Given the description of an element on the screen output the (x, y) to click on. 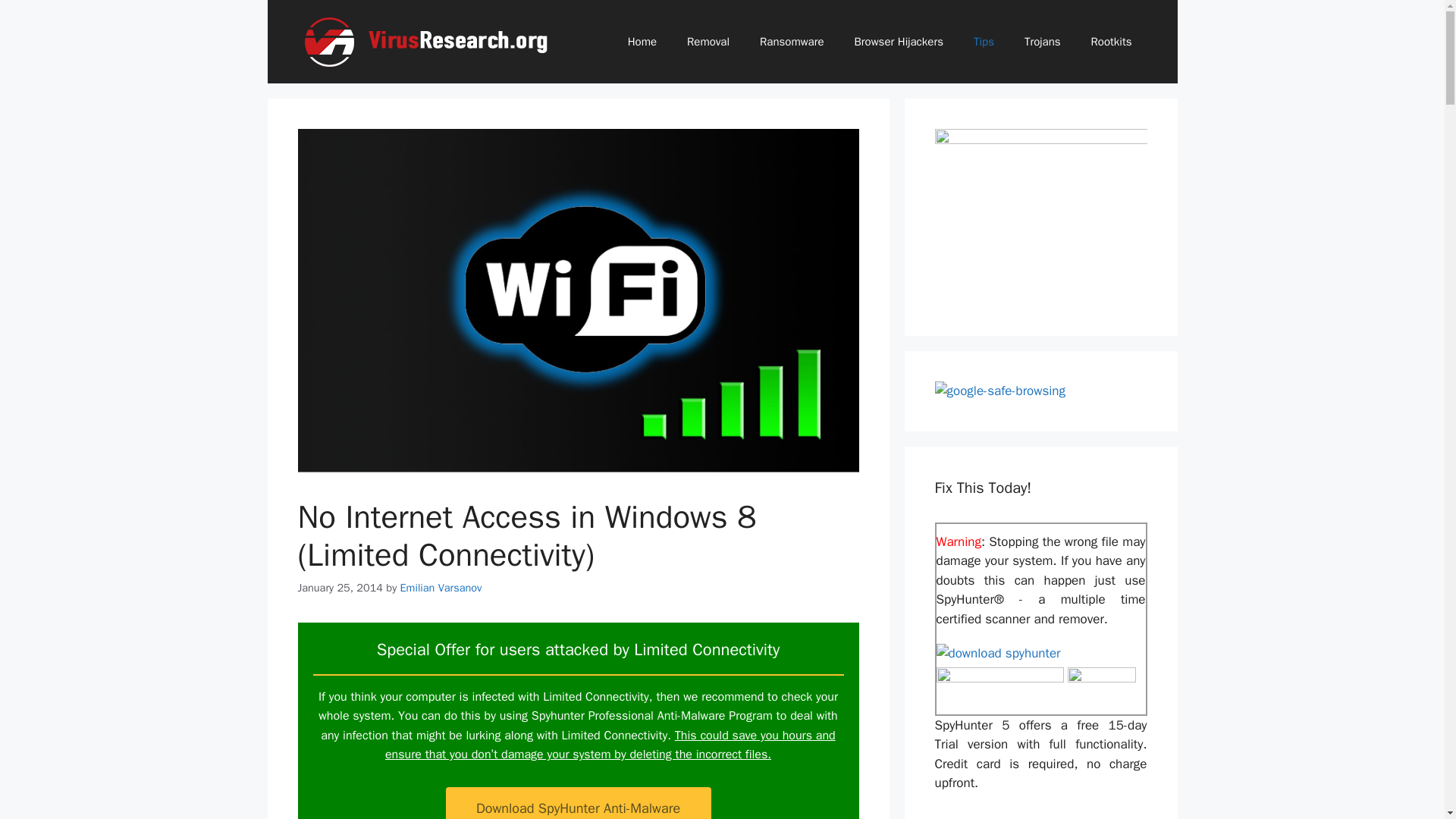
Trojans (1042, 41)
Tips (983, 41)
Rootkits (1111, 41)
Ransomware (791, 41)
Updated (429, 41)
Updated (429, 40)
Removal (707, 41)
Browser Hijackers (899, 41)
Home (641, 41)
View all posts by Emilian Varsanov (440, 587)
